Given the description of an element on the screen output the (x, y) to click on. 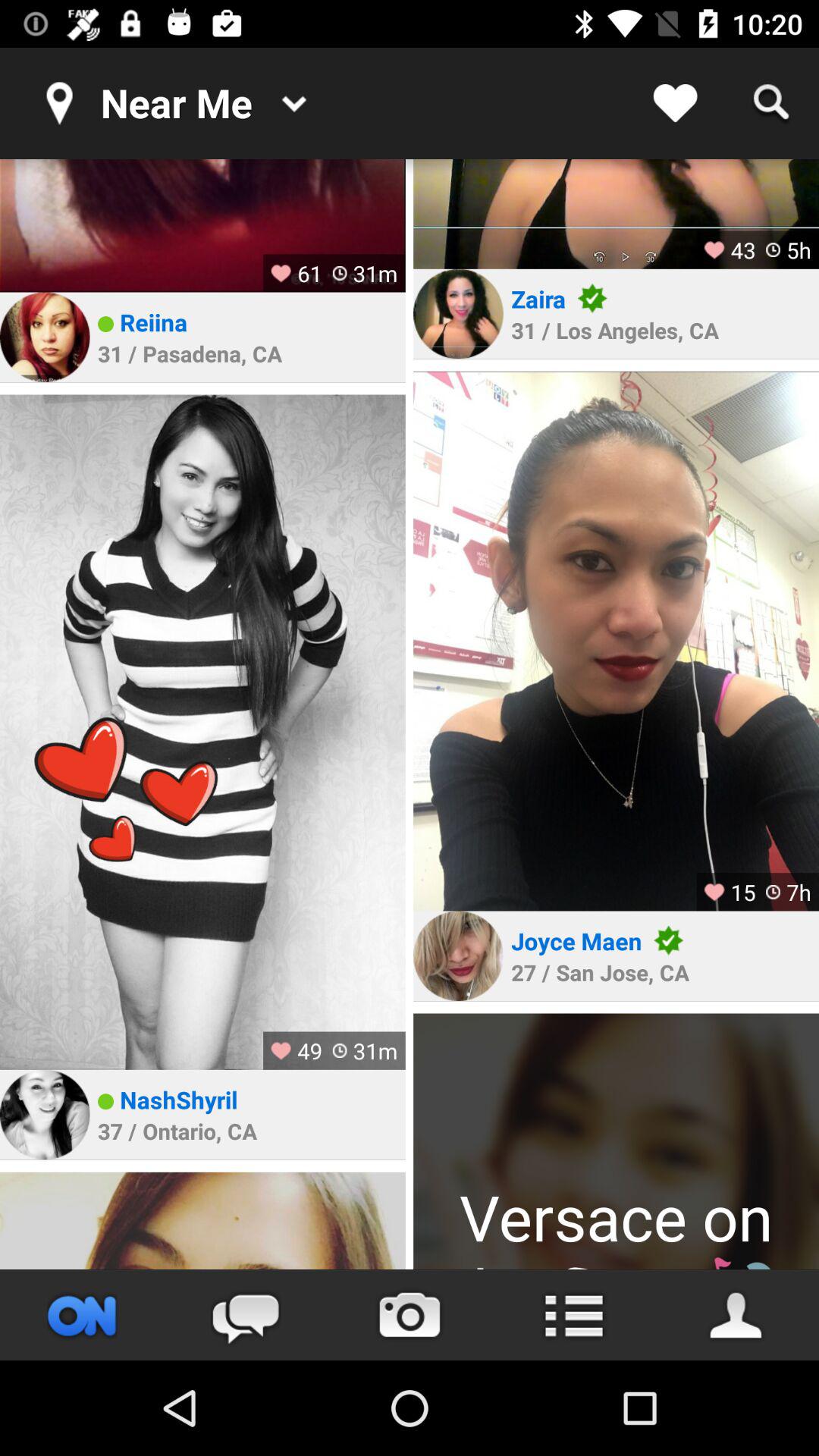
open icon above 31 / pasadena, ca (153, 321)
